Given the description of an element on the screen output the (x, y) to click on. 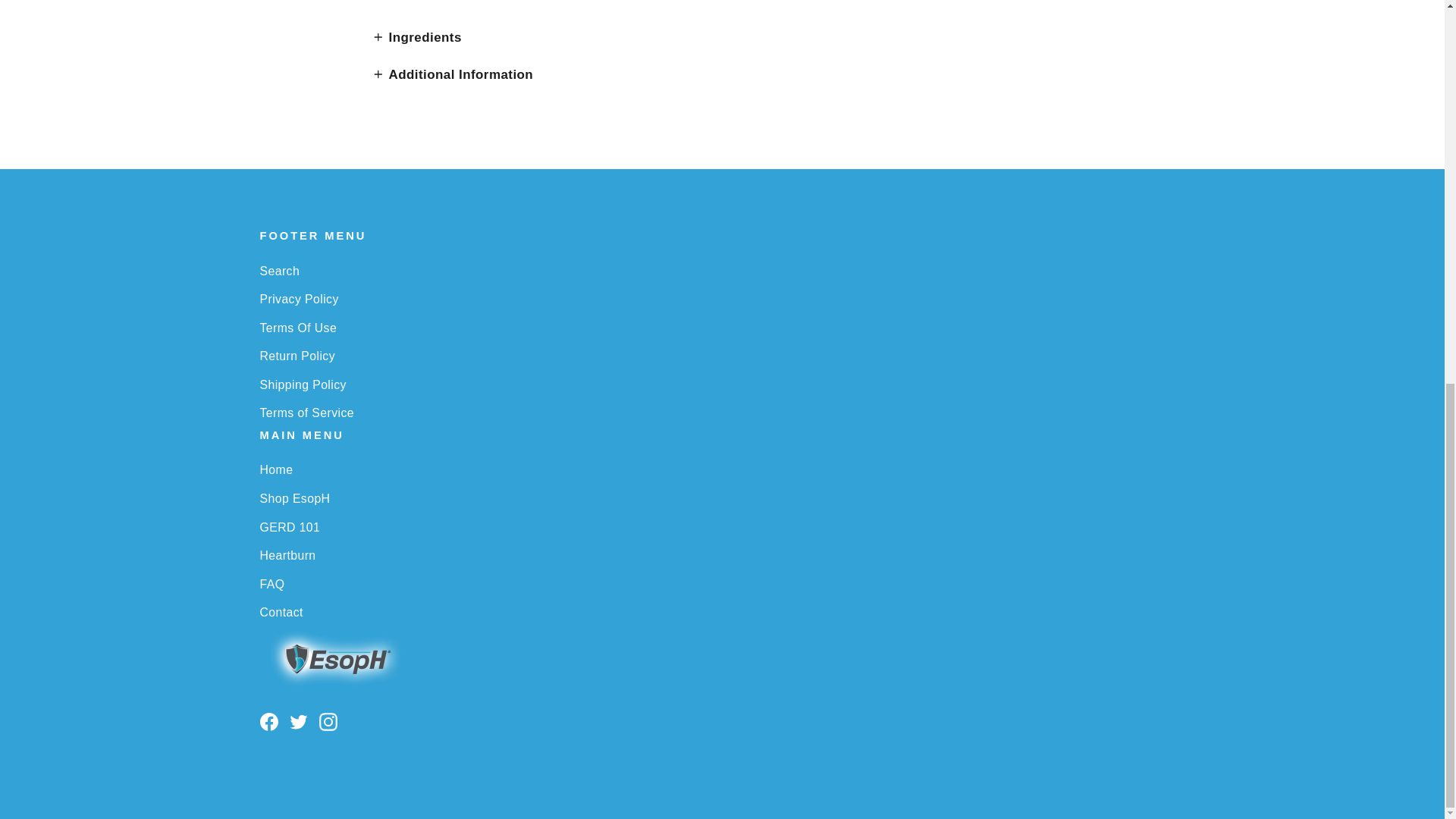
EsopH Exzell on Twitter (298, 720)
EsopH Exzell on Instagram (327, 720)
Terms Of Use (722, 327)
Privacy Policy (722, 299)
Search (722, 270)
Additional Information (452, 74)
Ingredients (416, 37)
